Given the description of an element on the screen output the (x, y) to click on. 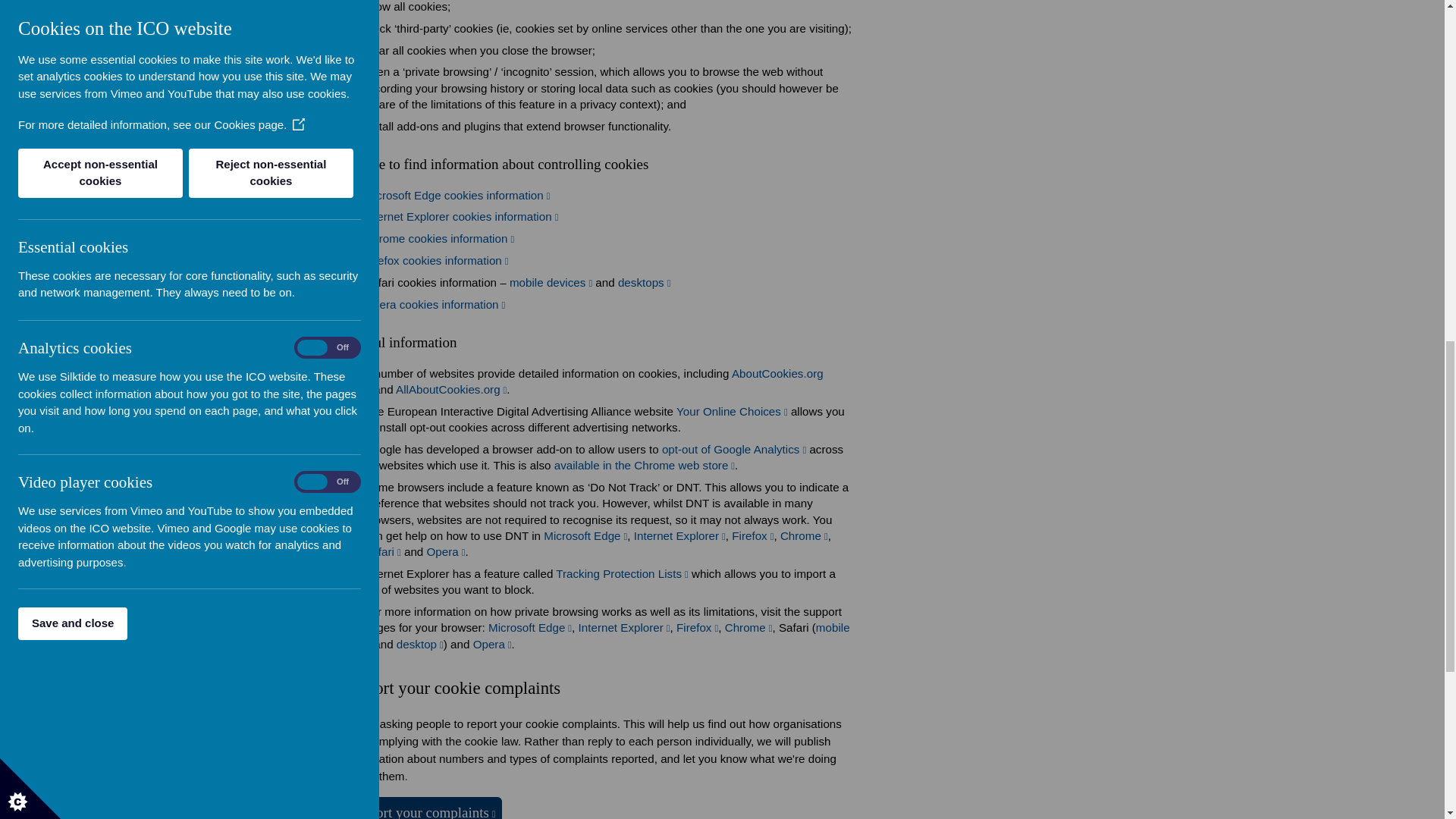
External link (434, 304)
External link (550, 282)
Chrome (804, 535)
Firefox (752, 535)
External link (593, 380)
External link (457, 195)
External link (382, 551)
mobile devices (550, 282)
External link (451, 389)
External link (644, 282)
Chrome cookies information (438, 237)
Firefox cookies information (436, 259)
Internet Explorer (679, 535)
available in the Chrome web store (644, 464)
Settings for privacy, browsing history and do-not-track (752, 535)
